Given the description of an element on the screen output the (x, y) to click on. 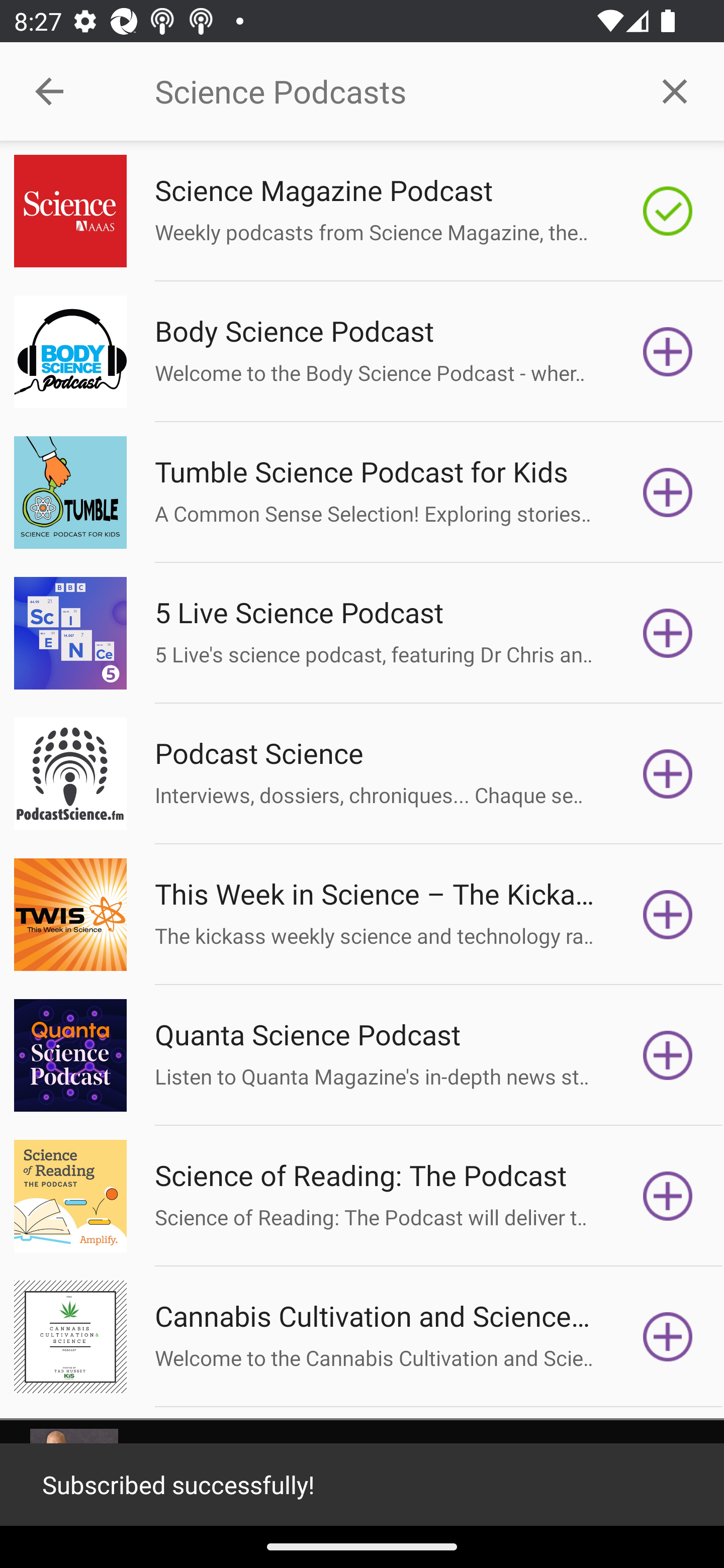
Collapse (49, 91)
Clear query (674, 90)
Science Podcasts (389, 91)
Subscribed (667, 211)
Subscribe (667, 350)
Subscribe (667, 491)
Subscribe (667, 633)
Subscribe (667, 773)
Subscribe (667, 913)
Subscribe (667, 1054)
Subscribe (667, 1195)
Subscribe (667, 1336)
Subscribed successfully! (362, 1484)
